Given the description of an element on the screen output the (x, y) to click on. 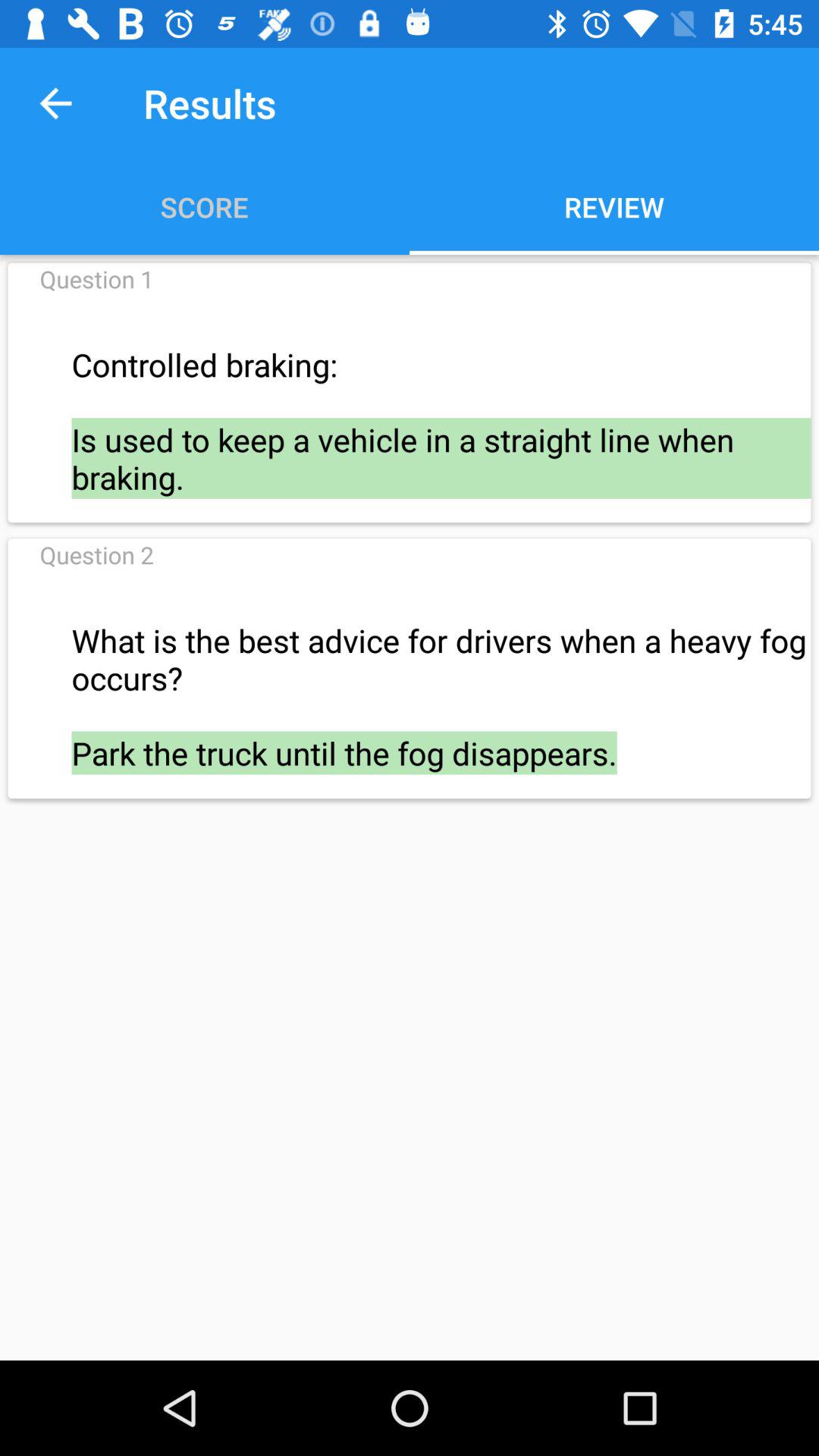
launch item next to the results icon (55, 103)
